Given the description of an element on the screen output the (x, y) to click on. 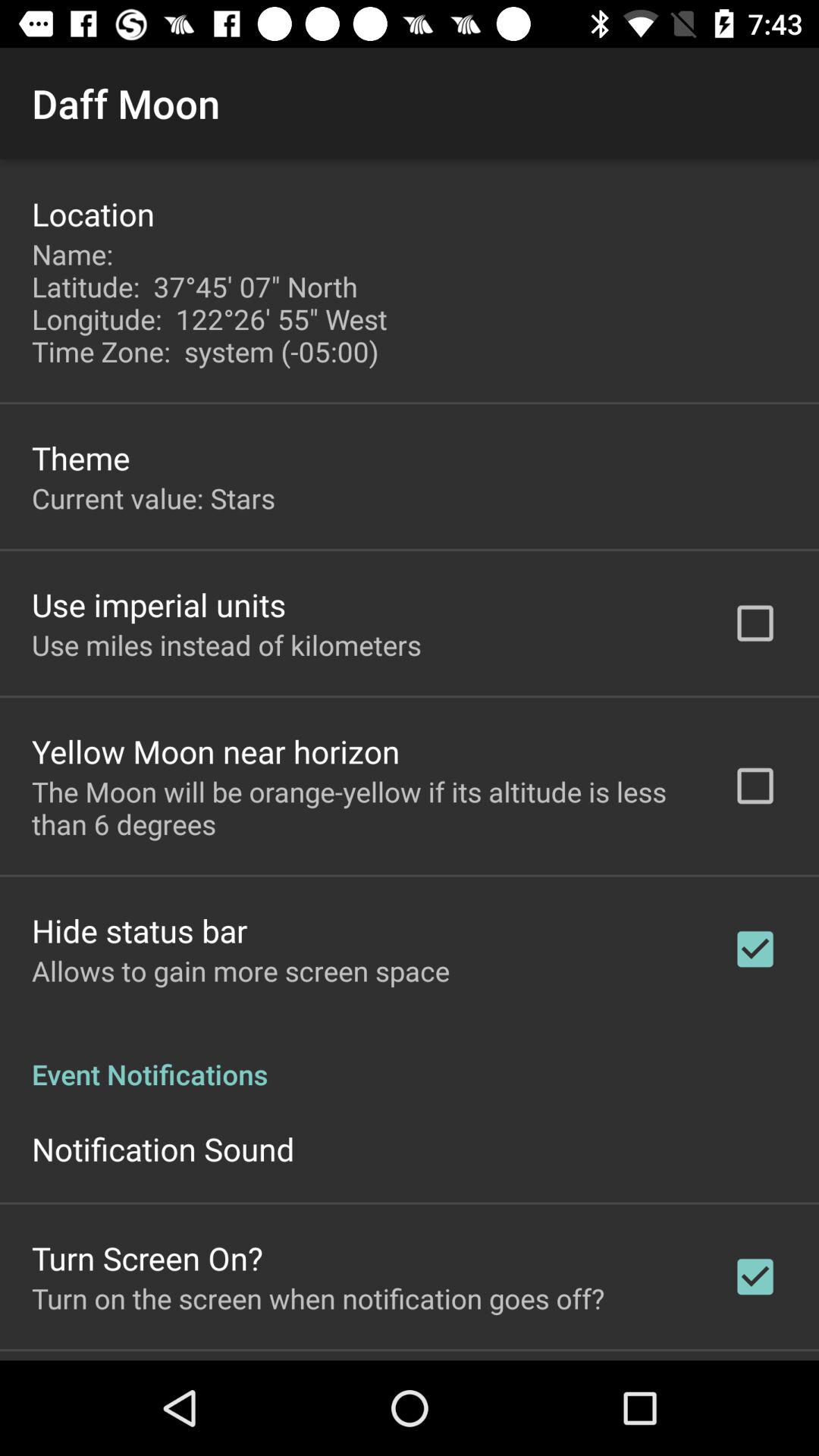
click icon below allows to gain (409, 1058)
